Given the description of an element on the screen output the (x, y) to click on. 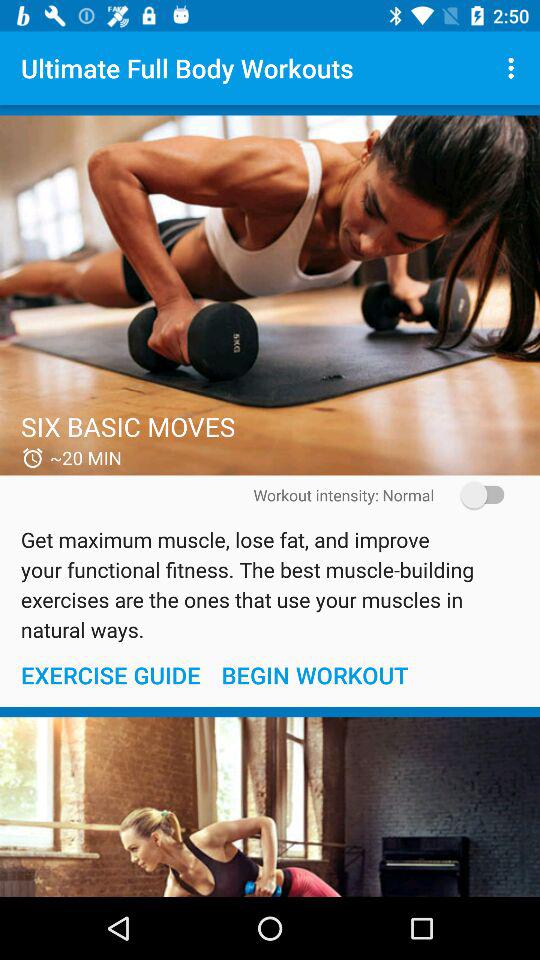
click icon below the get maximum muscle item (110, 674)
